Given the description of an element on the screen output the (x, y) to click on. 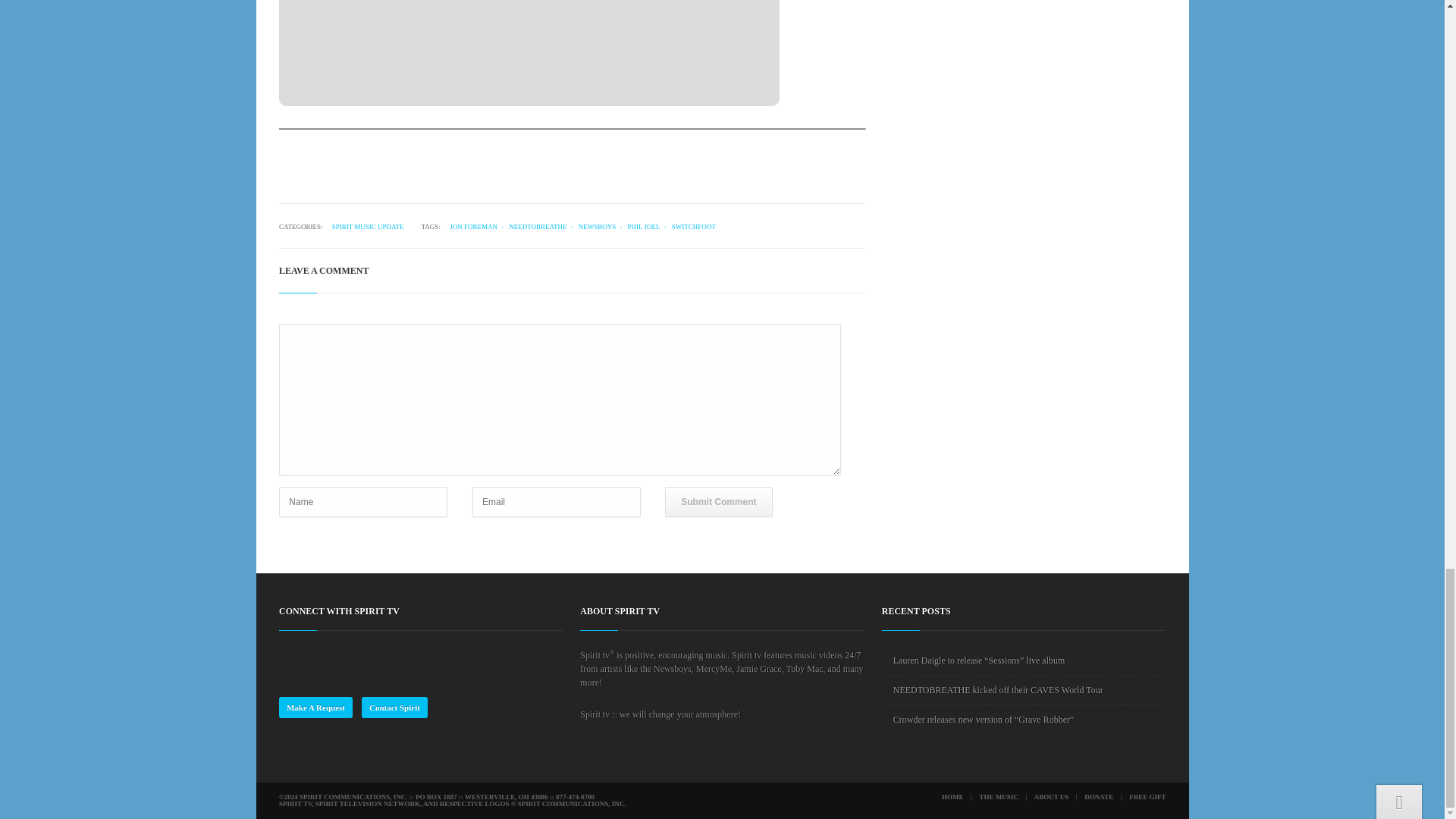
PHIL JOEL (648, 226)
SWITCHFOOT (693, 226)
JON FOREMAN (474, 226)
NEEDTOBREATHE (542, 226)
youtube (339, 658)
facebook (290, 658)
NEWSBOYS (602, 226)
Submit Comment (718, 501)
Submit Comment (718, 501)
twitter (314, 658)
